Given the description of an element on the screen output the (x, y) to click on. 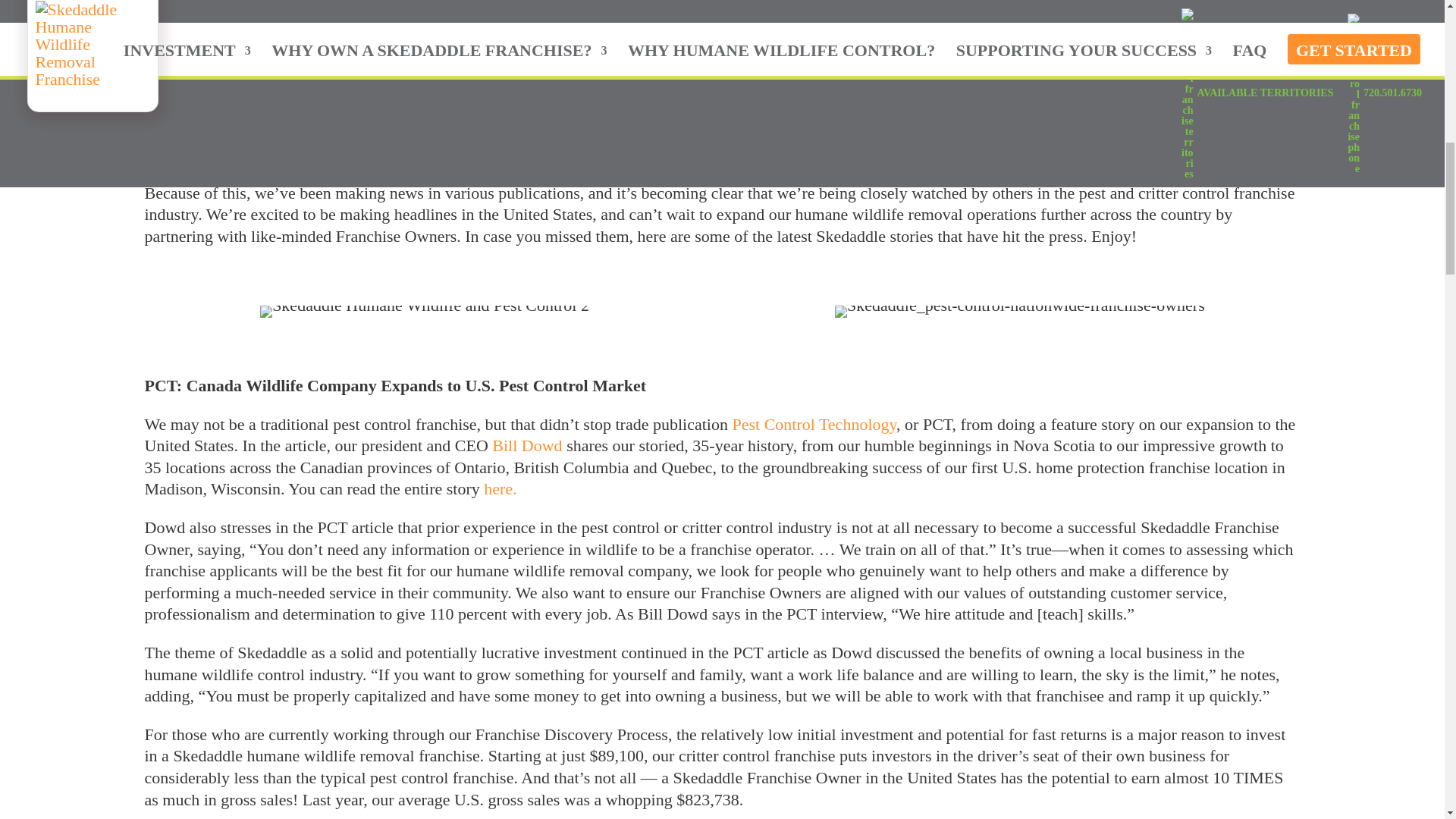
Skedaddle Humane Wildlife and Pest Control 2 (424, 311)
Bill Dowd (527, 445)
skedaddle-humane-wildlife-removal-making-headlines (721, 32)
here. (499, 488)
Pest Control Technology (814, 424)
